Given the description of an element on the screen output the (x, y) to click on. 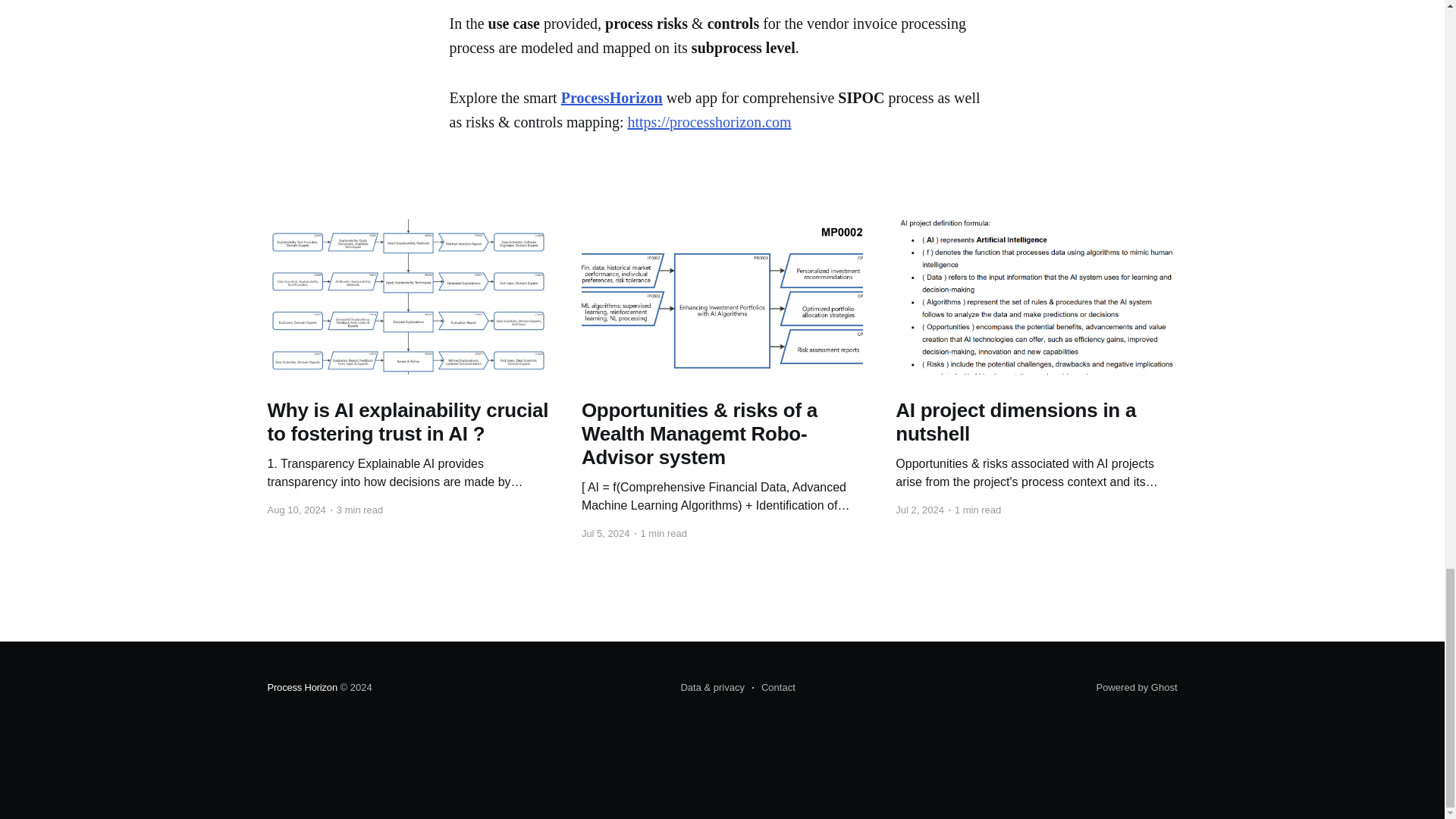
ProcessHorizon (611, 97)
Contact (773, 687)
Powered by Ghost (1136, 686)
Process Horizon (301, 686)
